Given the description of an element on the screen output the (x, y) to click on. 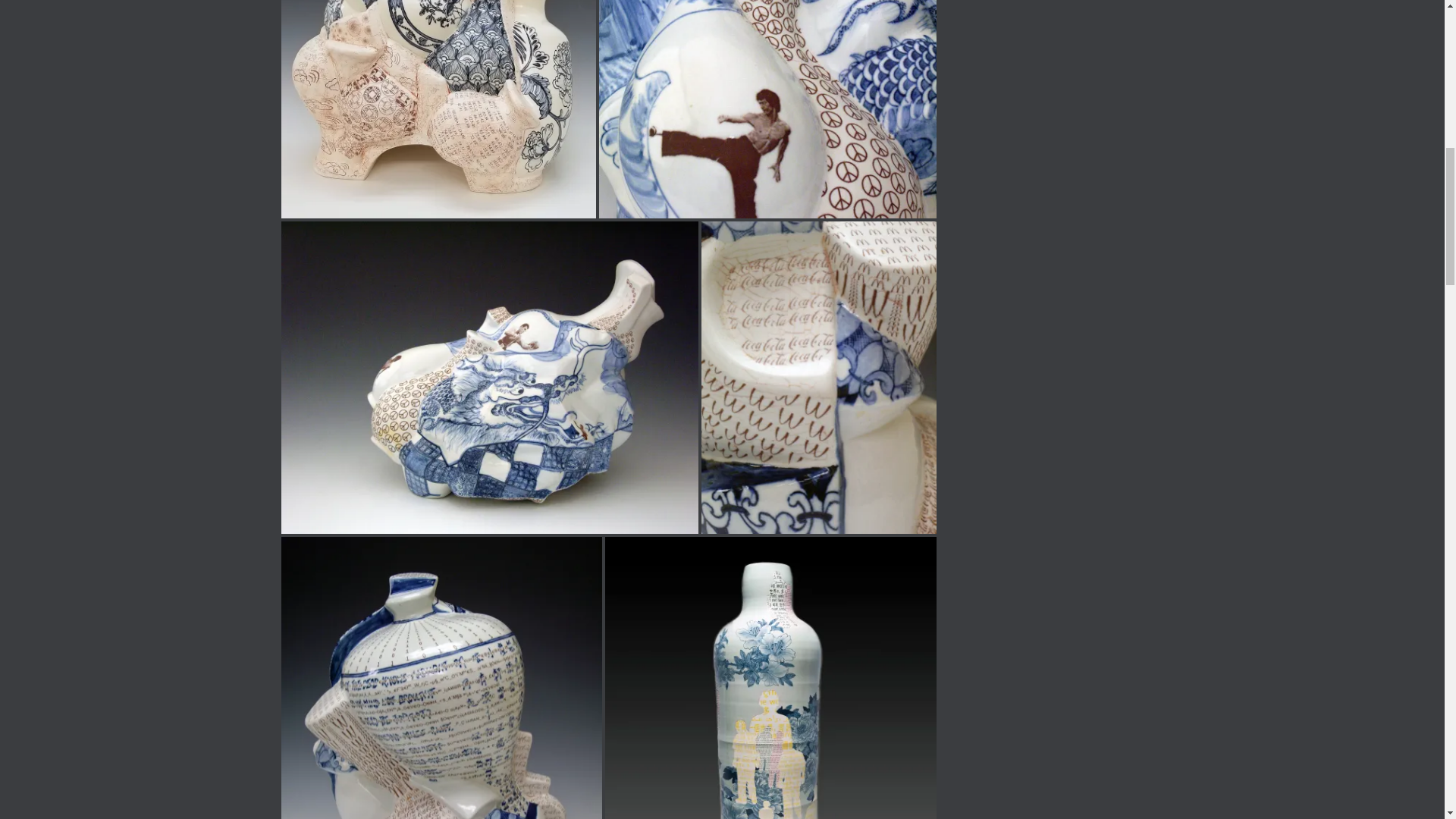
Crouching Tiger and Hidden Dragon detail (767, 109)
Crouching Tiger and Hidden Dragon (489, 377)
Beyond Borders-passage of time (438, 109)
One World, Many Peoples no. 1 (770, 678)
Fracture Unity (441, 678)
